Given the description of an element on the screen output the (x, y) to click on. 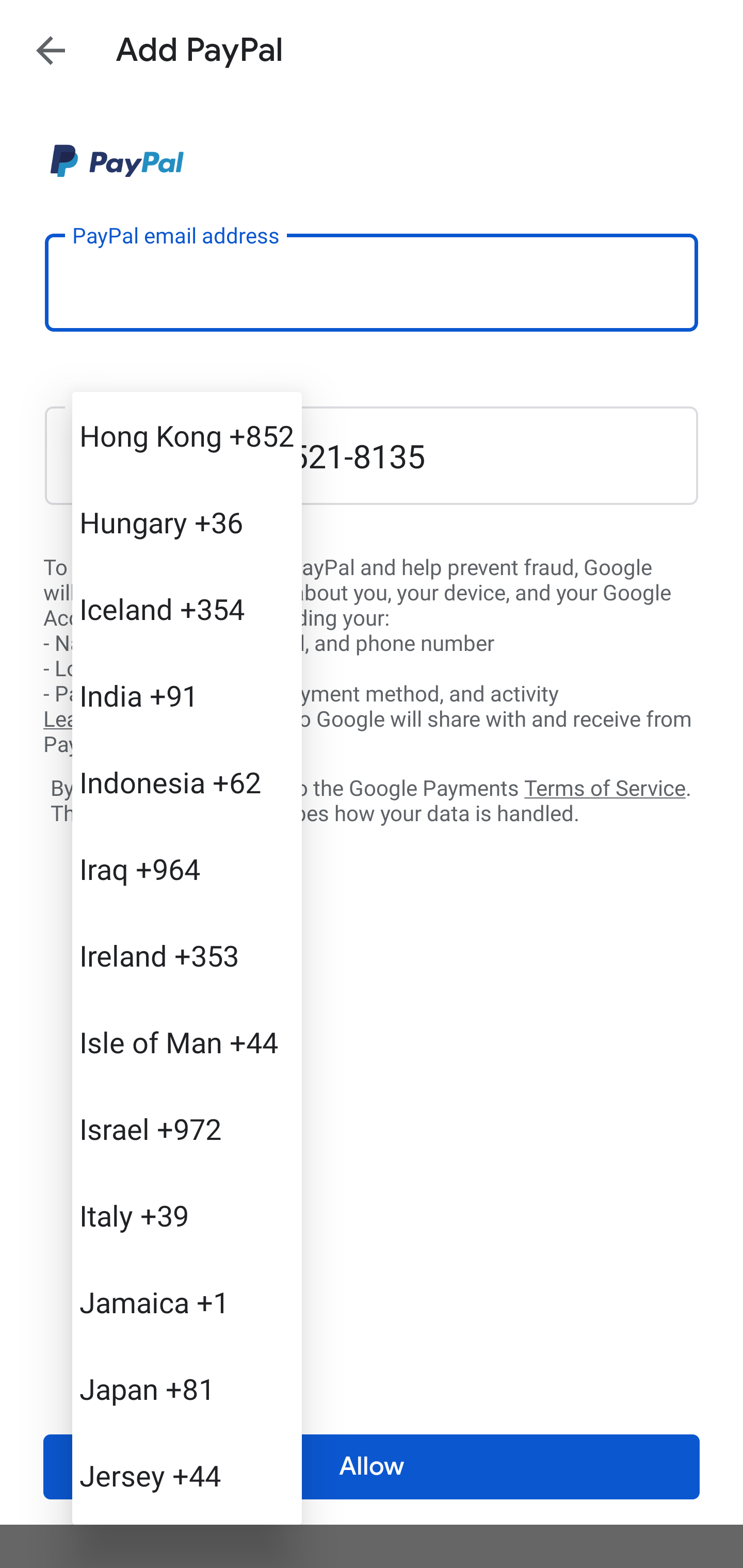
Hong Kong +852 (186, 435)
Hungary +36 (186, 522)
Iceland +354 (186, 609)
India +91 (186, 695)
Indonesia +62 (186, 781)
Iraq +964 (186, 868)
Ireland +353 (186, 955)
Isle of Man +44 (186, 1041)
Israel +972 (186, 1128)
Italy +39 (186, 1215)
Jamaica +1 (186, 1302)
Japan +81 (186, 1388)
Jersey +44 (186, 1474)
